Given the description of an element on the screen output the (x, y) to click on. 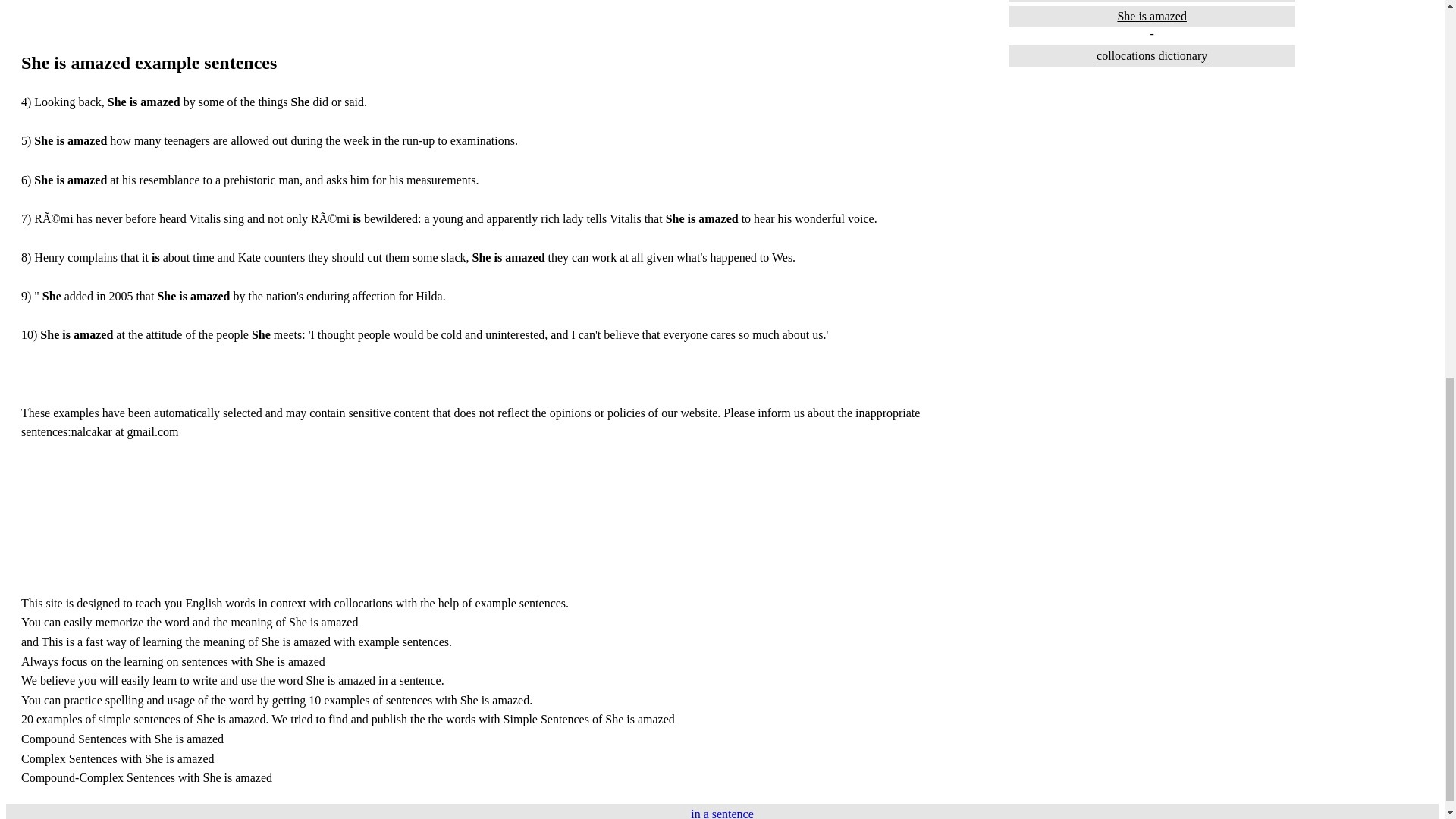
She is amazed (1152, 16)
collocations dictionary (1152, 55)
